Given the description of an element on the screen output the (x, y) to click on. 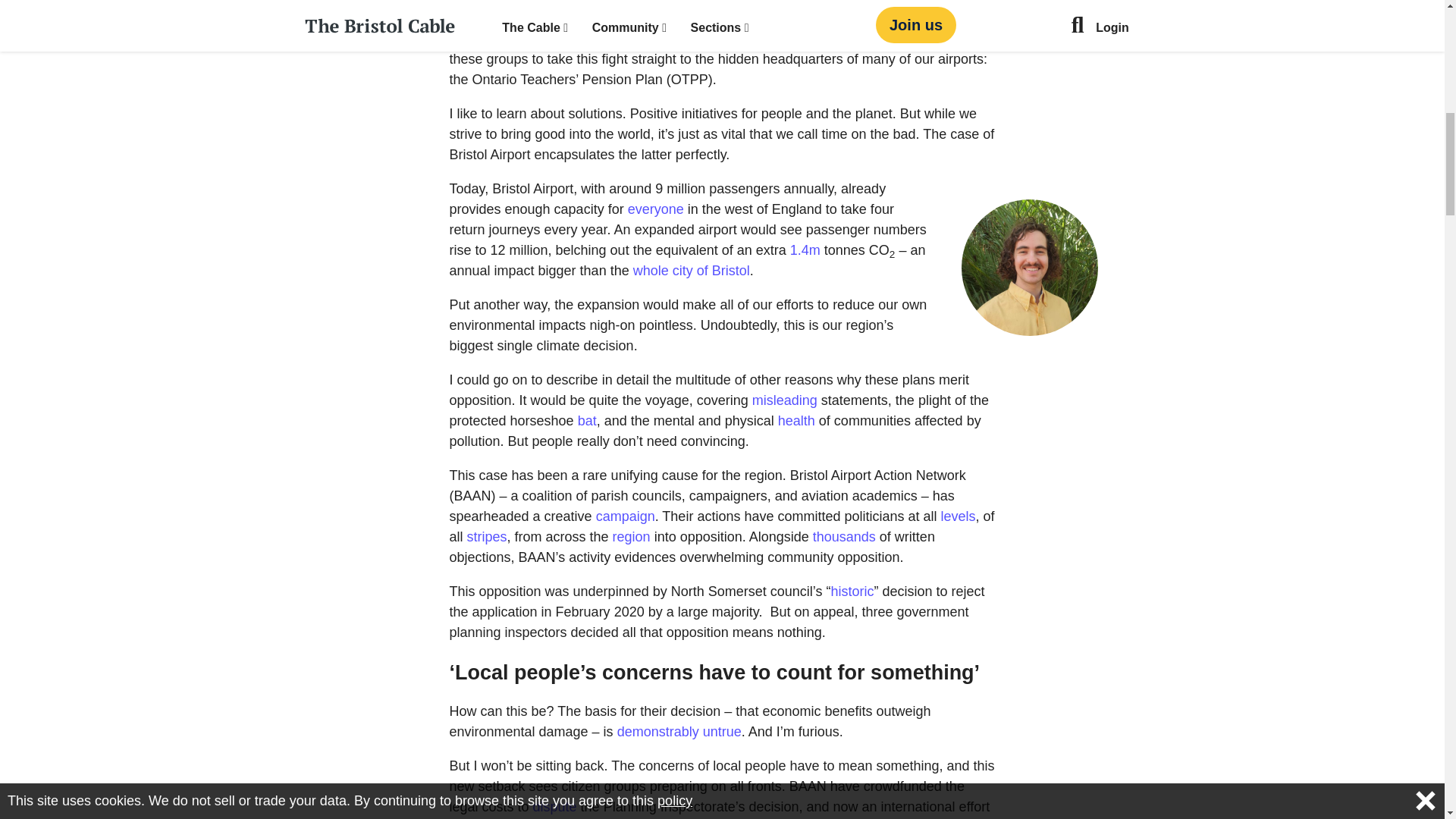
Opens in a new tab (486, 536)
Opens in a new tab (851, 590)
Opens in a new tab (631, 536)
bat (587, 420)
Opens in a new tab (805, 249)
health (796, 420)
Opens in a new tab (587, 420)
Opens in a new tab (796, 420)
1.4m (805, 249)
Opens in a new tab (655, 209)
Opens in a new tab (691, 270)
Opens in a new tab (657, 731)
everyone (655, 209)
whole city of Bristol (691, 270)
Opens in a new tab (722, 731)
